Given the description of an element on the screen output the (x, y) to click on. 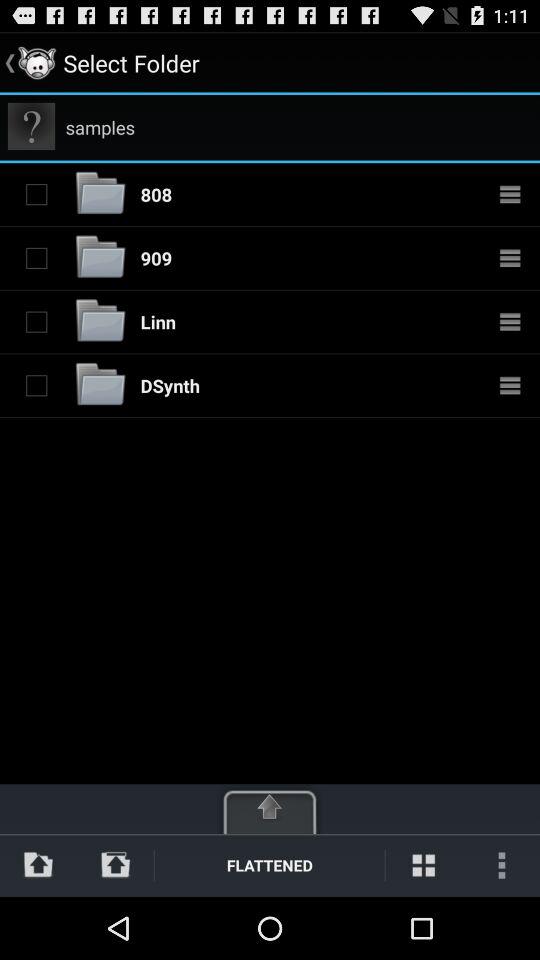
select this folder (36, 258)
